Given the description of an element on the screen output the (x, y) to click on. 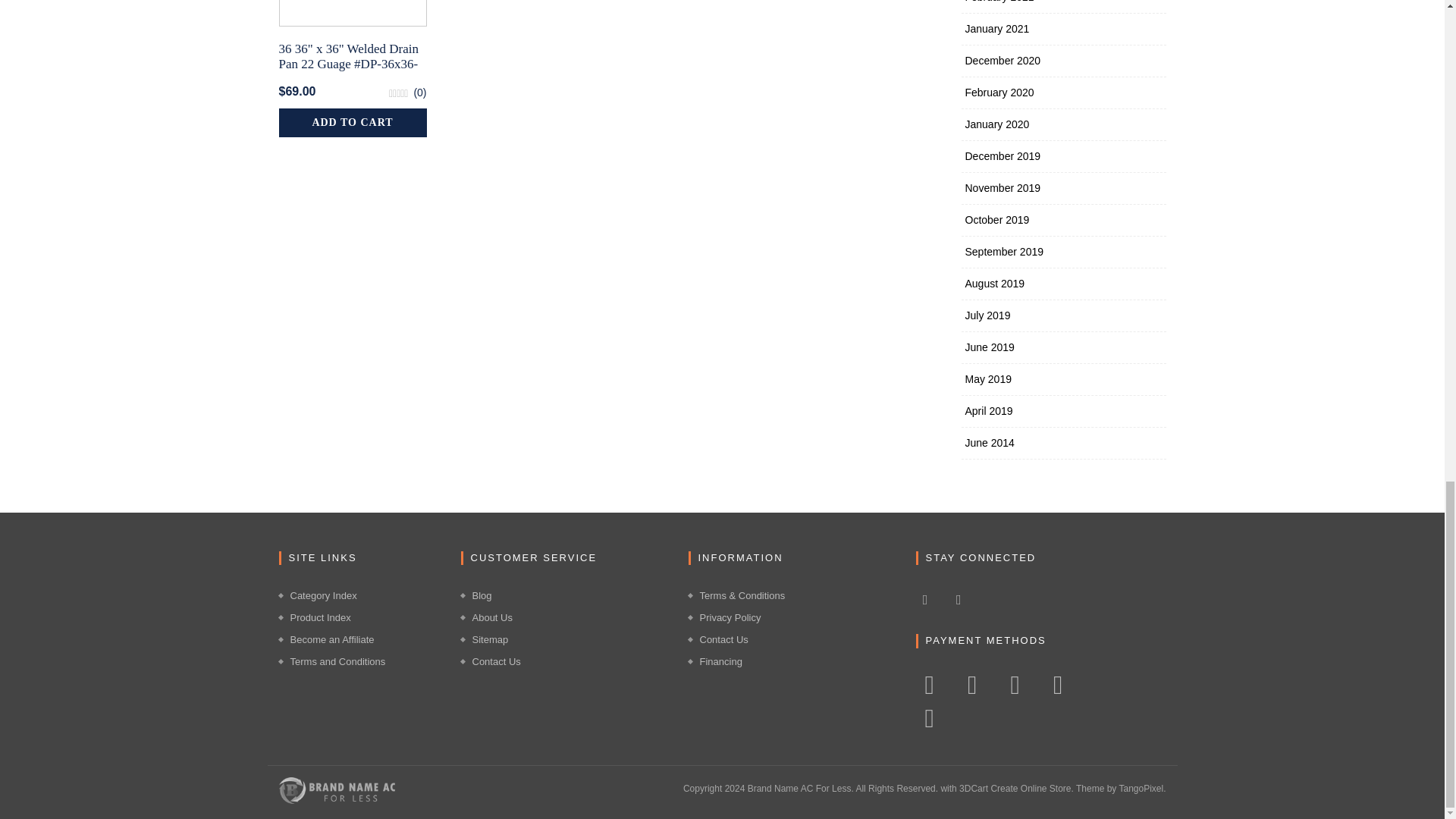
Follow Us on Twitter (958, 599)
Like Us on Facebook (924, 599)
ADD TO CART (352, 122)
Sample Store (336, 788)
